Given the description of an element on the screen output the (x, y) to click on. 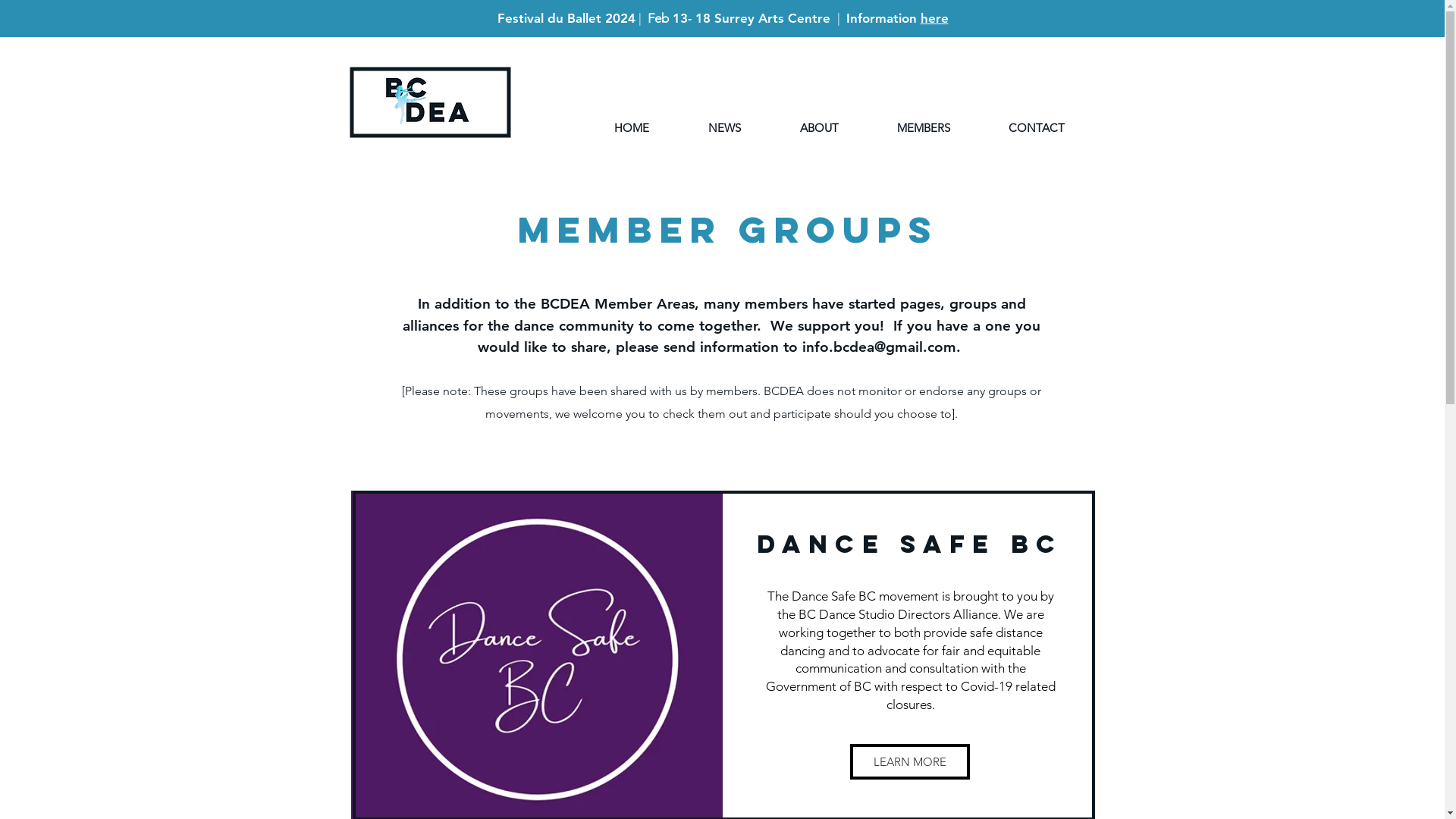
HOME Element type: text (630, 128)
NEWS Element type: text (723, 128)
info.bcdea@gmail.com Element type: text (879, 346)
ABOUT Element type: text (819, 128)
CONTACT Element type: text (1036, 128)
MEMBERS Element type: text (923, 128)
here Element type: text (934, 17)
